Given the description of an element on the screen output the (x, y) to click on. 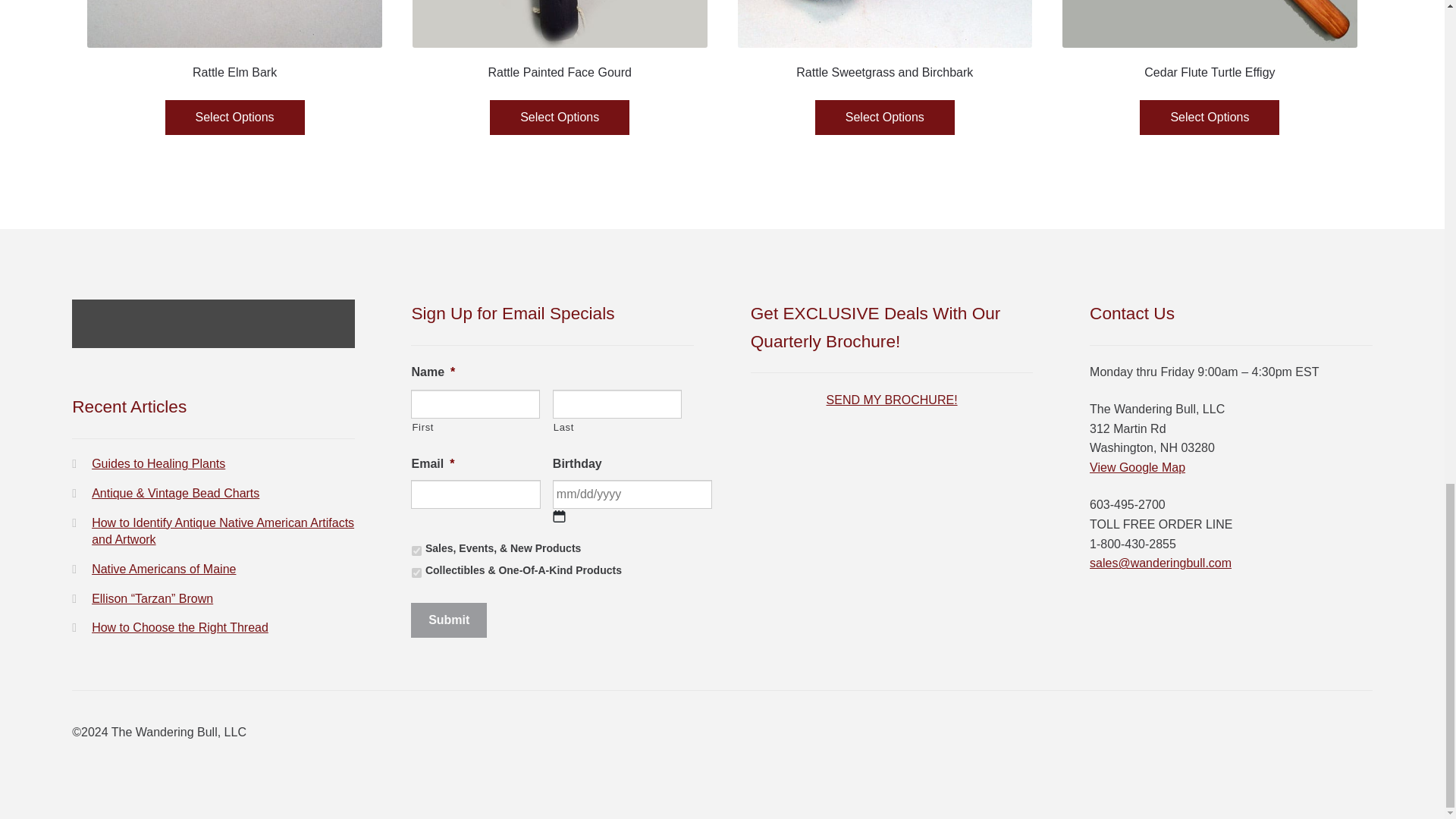
Select date (559, 516)
Submit (448, 620)
